Given the description of an element on the screen output the (x, y) to click on. 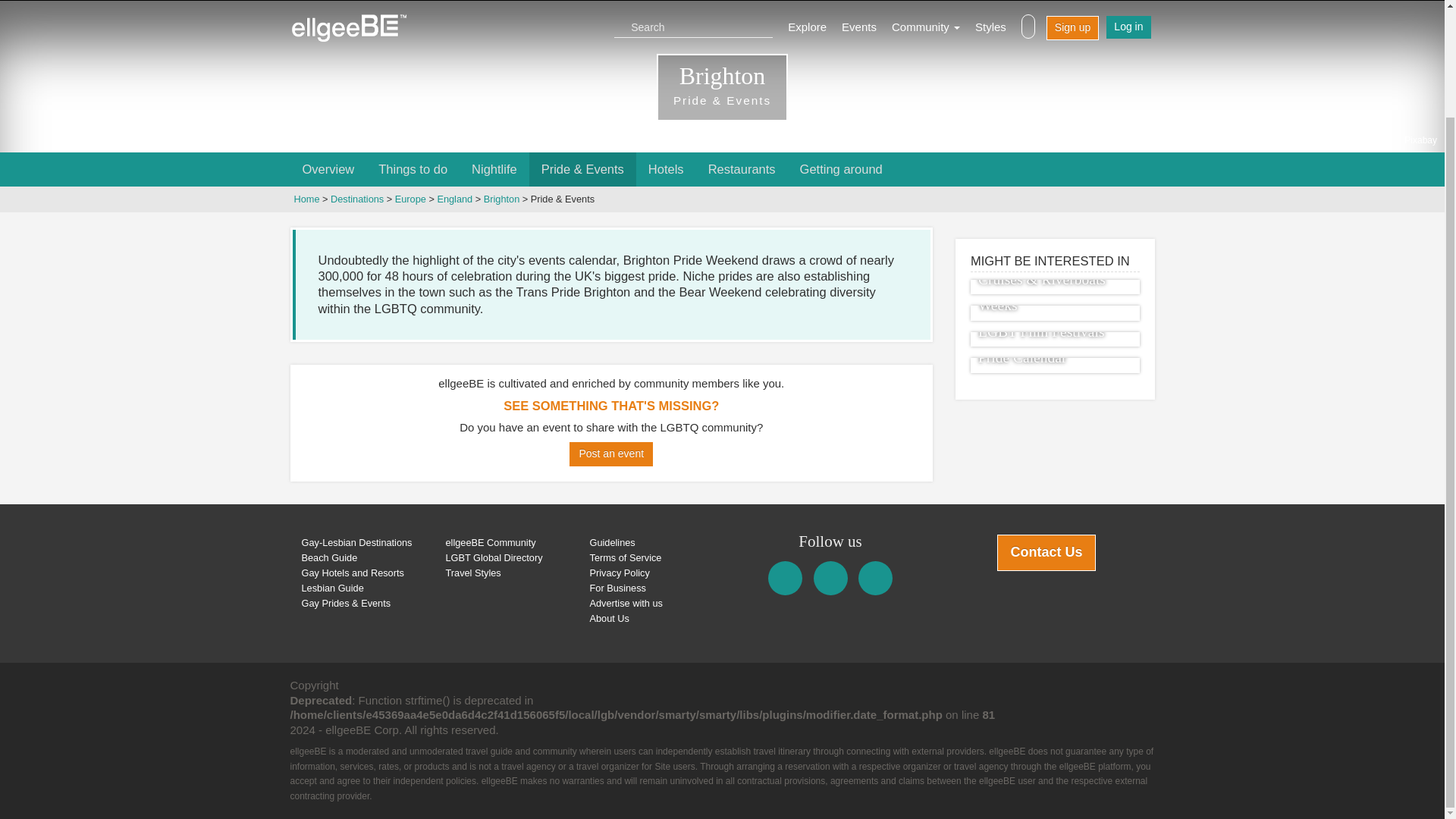
Pixabay (1421, 140)
Search (697, 25)
